Given the description of an element on the screen output the (x, y) to click on. 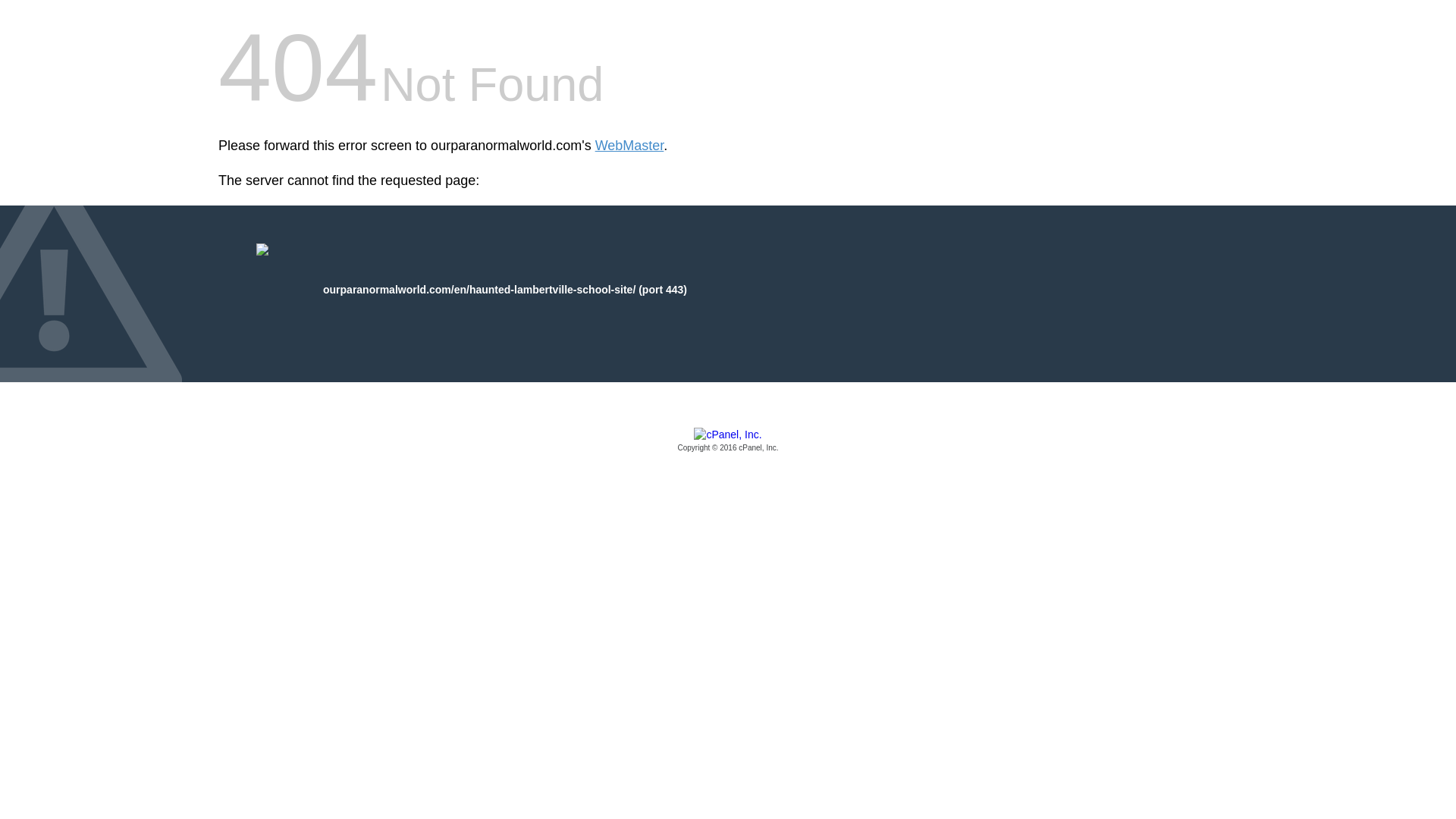
cPanel, Inc. (727, 440)
WebMaster (629, 145)
